Given the description of an element on the screen output the (x, y) to click on. 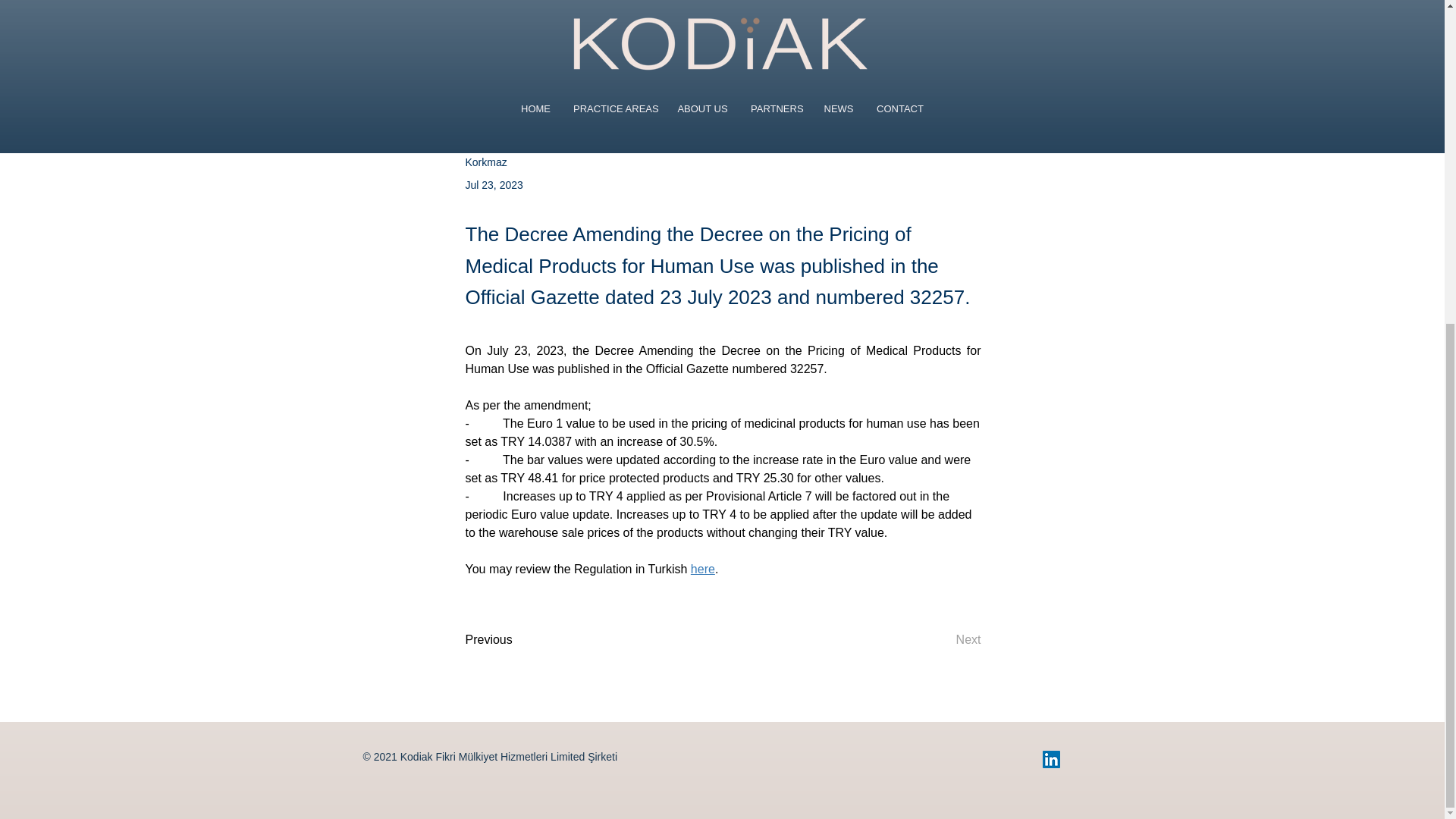
Previous (515, 639)
here (702, 568)
Next (943, 639)
